Given the description of an element on the screen output the (x, y) to click on. 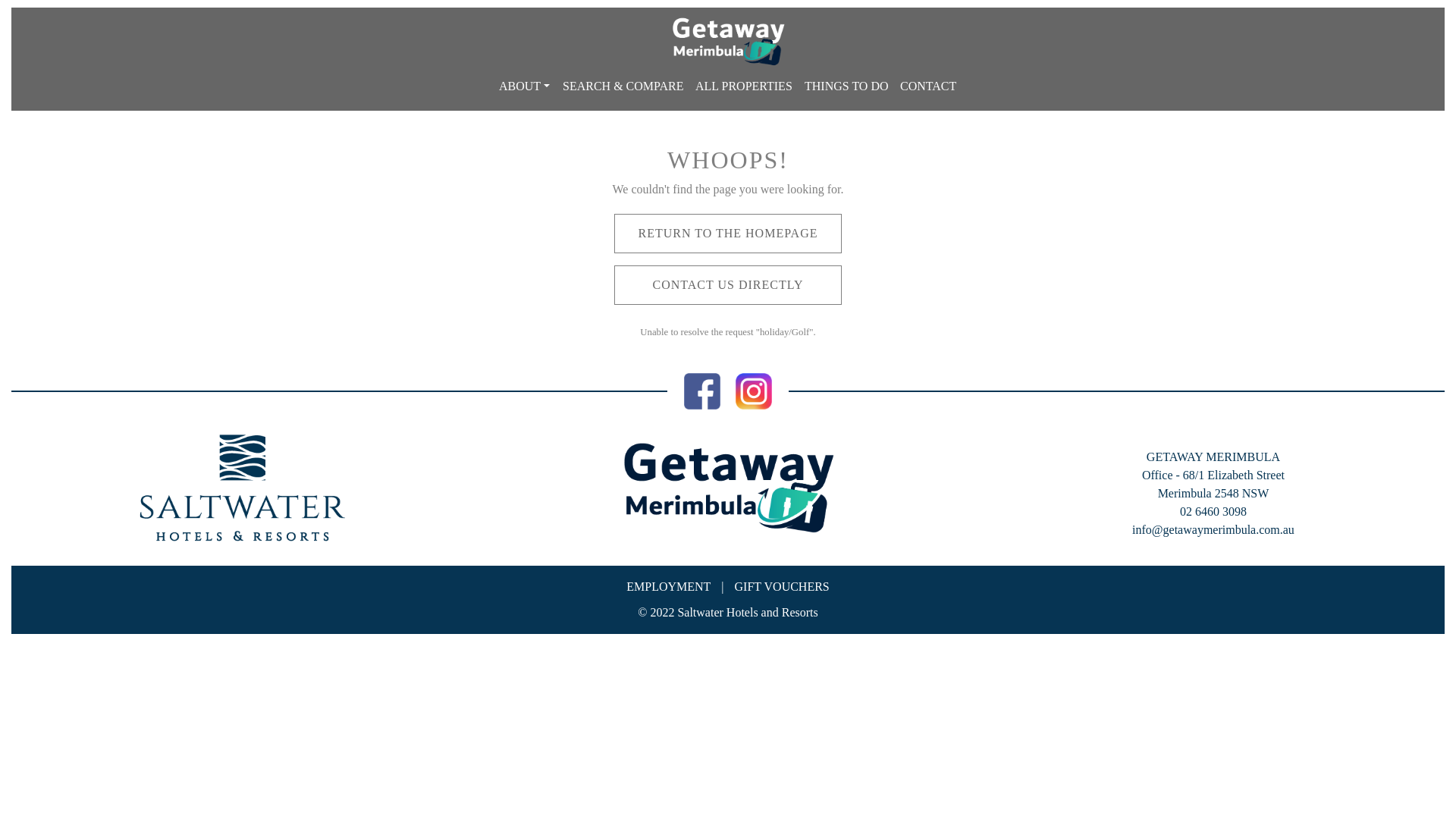
ABOUT Element type: text (523, 86)
info@getawaymerimbula.com.au Element type: text (1213, 529)
ALL PROPERTIES Element type: text (743, 86)
EMPLOYMENT Element type: text (668, 586)
CONTACT US DIRECTLY Element type: text (727, 284)
Facebook Element type: hover (702, 389)
RETURN TO THE HOMEPAGE Element type: text (727, 233)
Instagram Element type: hover (753, 389)
GIFT VOUCHERS Element type: text (781, 586)
THINGS TO DO Element type: text (846, 86)
CONTACT Element type: text (928, 86)
SEARCH & COMPARE Element type: text (622, 86)
Saltwater Hotels & Resorts Element type: hover (242, 487)
